Given the description of an element on the screen output the (x, y) to click on. 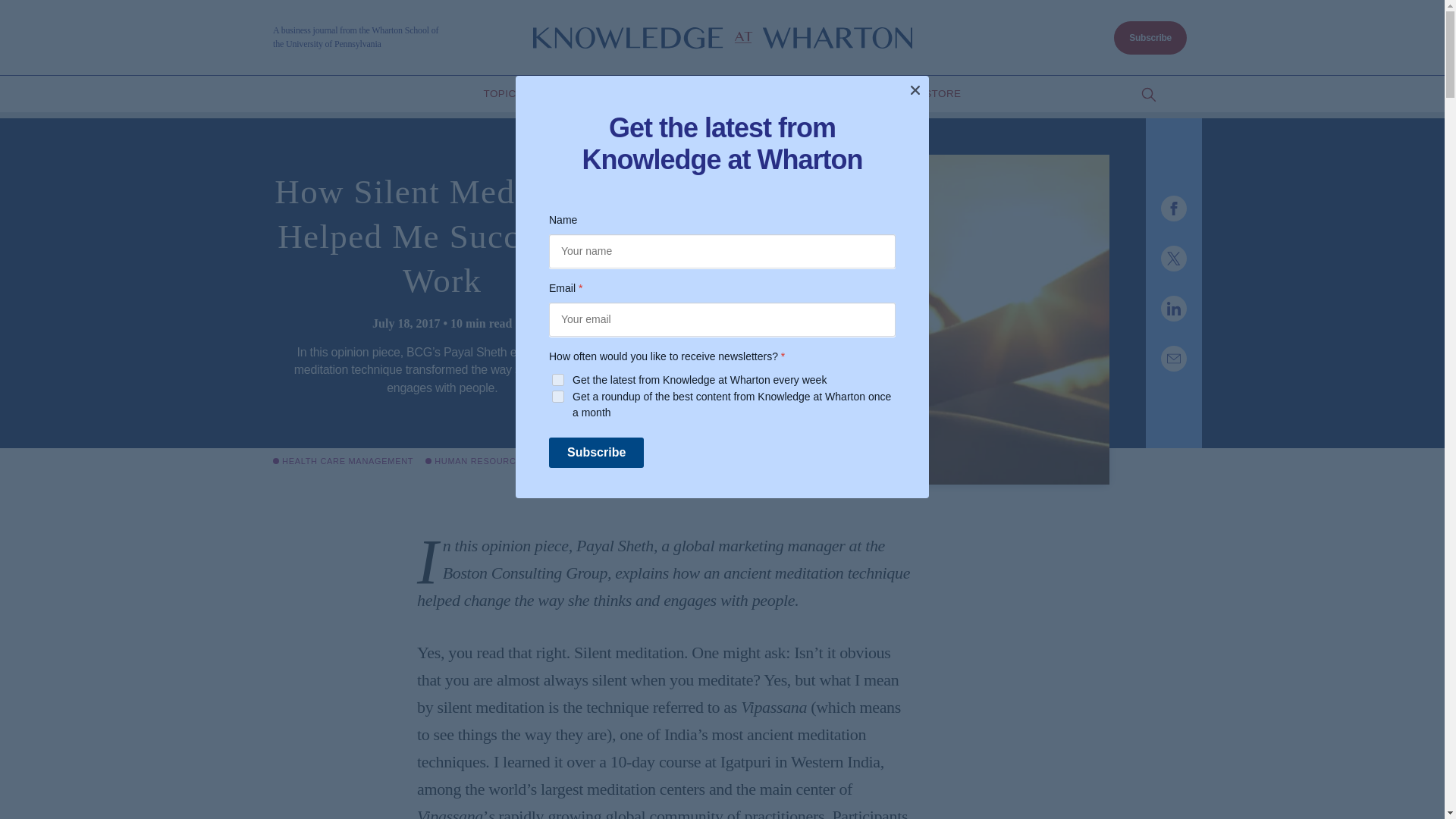
Share this page on Facebook (1173, 208)
Share this page on LinkedIn (1173, 308)
Share this page by email (1173, 358)
Subscribe (1149, 37)
Knowledge at Wharton (721, 37)
Go to site search (1148, 94)
Share this page on Twitter (1173, 258)
